Given the description of an element on the screen output the (x, y) to click on. 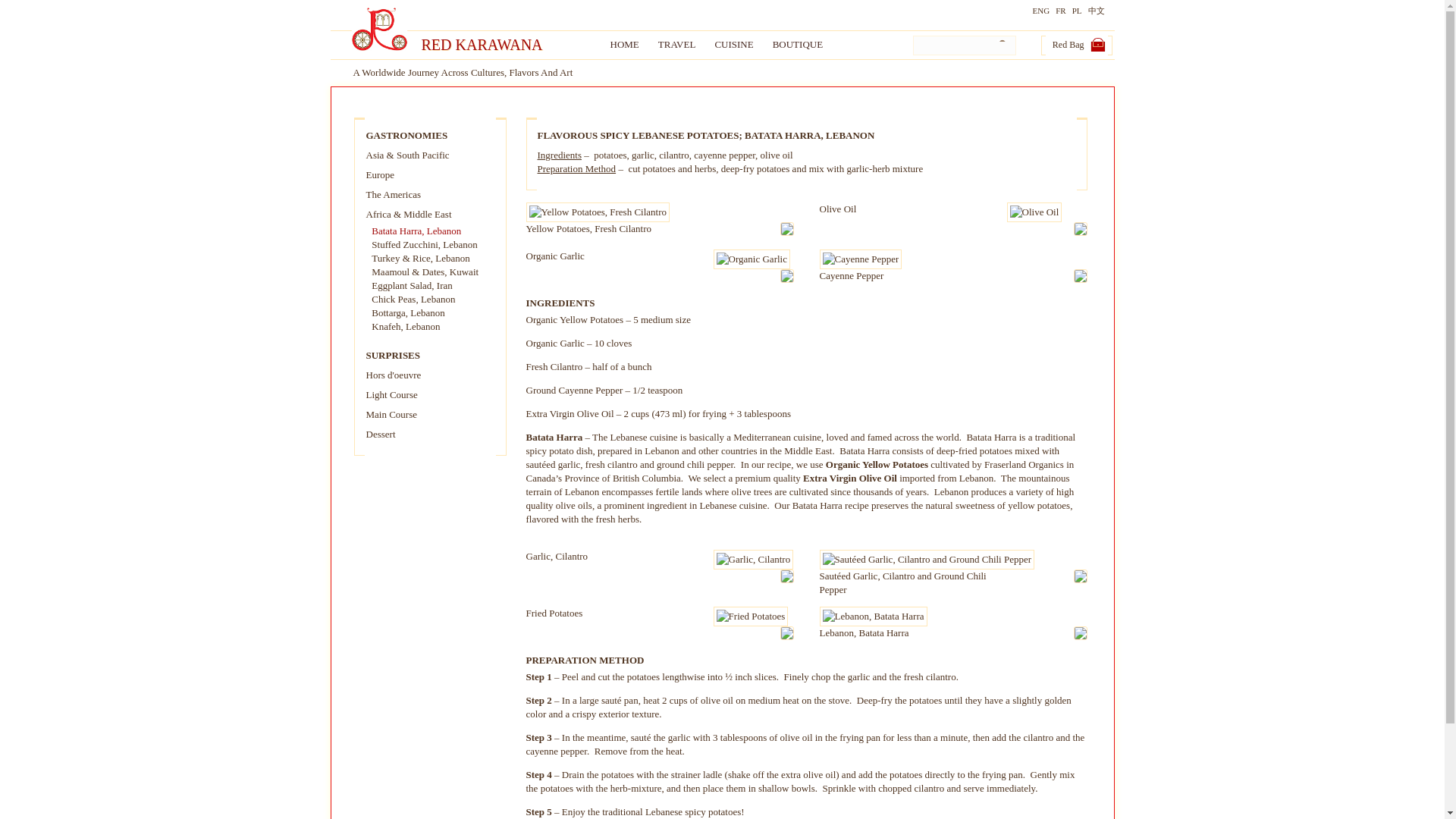
Ingredients (558, 154)
RED KARAWANA (499, 44)
BOUTIQUE (797, 43)
Search (1002, 45)
Red Bag (1073, 44)
FR (1057, 10)
Preparation Method (576, 168)
Red Karawana (499, 44)
CUISINE (733, 43)
Search (1002, 45)
